Given the description of an element on the screen output the (x, y) to click on. 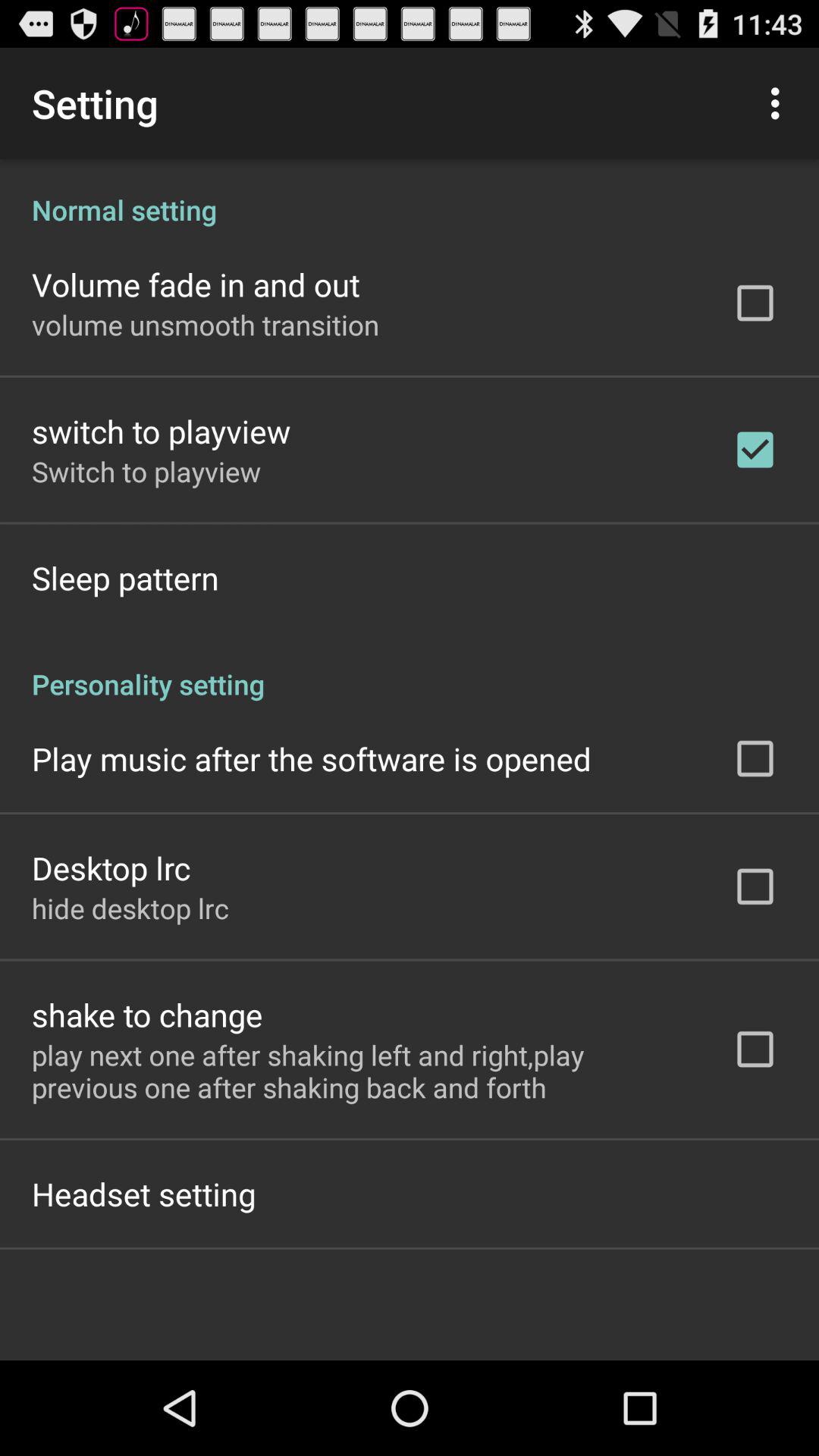
scroll to the normal setting icon (409, 193)
